Given the description of an element on the screen output the (x, y) to click on. 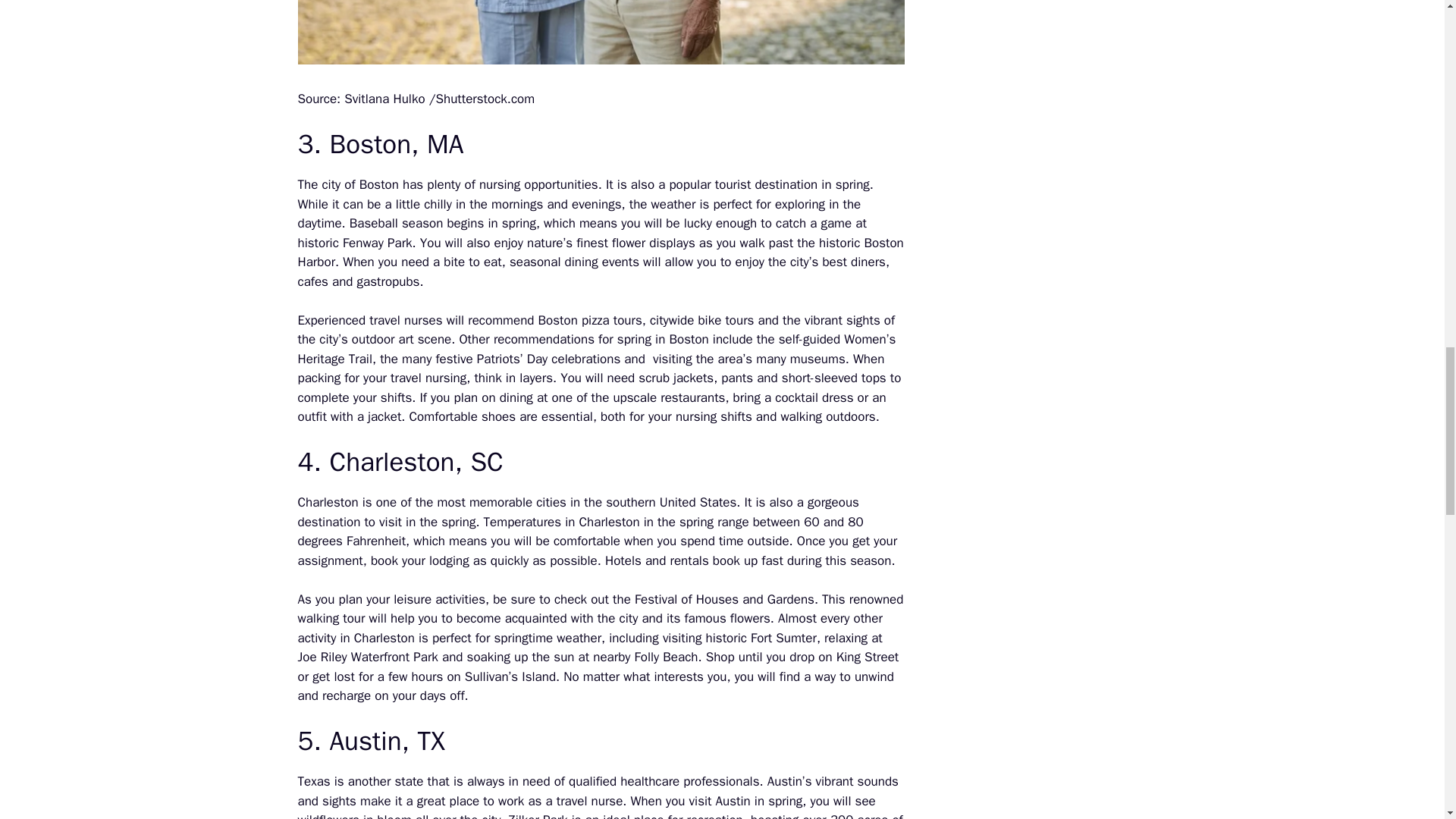
spring in Boston (663, 339)
Zilker Park (537, 815)
Festival of Houses and Gardens (723, 599)
